Given the description of an element on the screen output the (x, y) to click on. 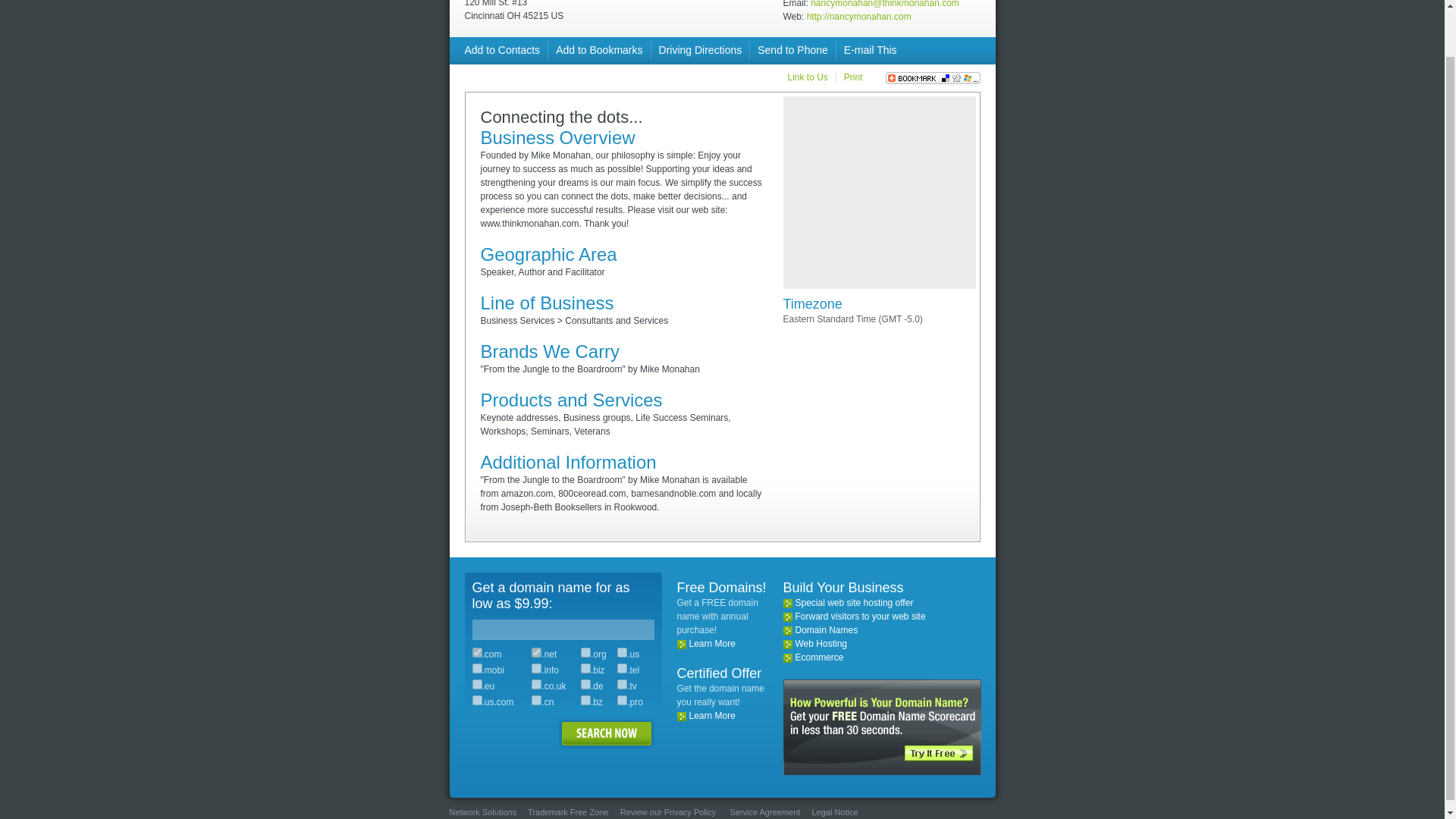
.tel (622, 668)
Forward visitors to your web site (859, 615)
.biz (585, 668)
.eu (476, 684)
E-mail This (870, 50)
.bz (585, 700)
.us.com (476, 700)
.tv (622, 684)
Send to Phone (792, 50)
Trademark Free Zone (567, 811)
